Given the description of an element on the screen output the (x, y) to click on. 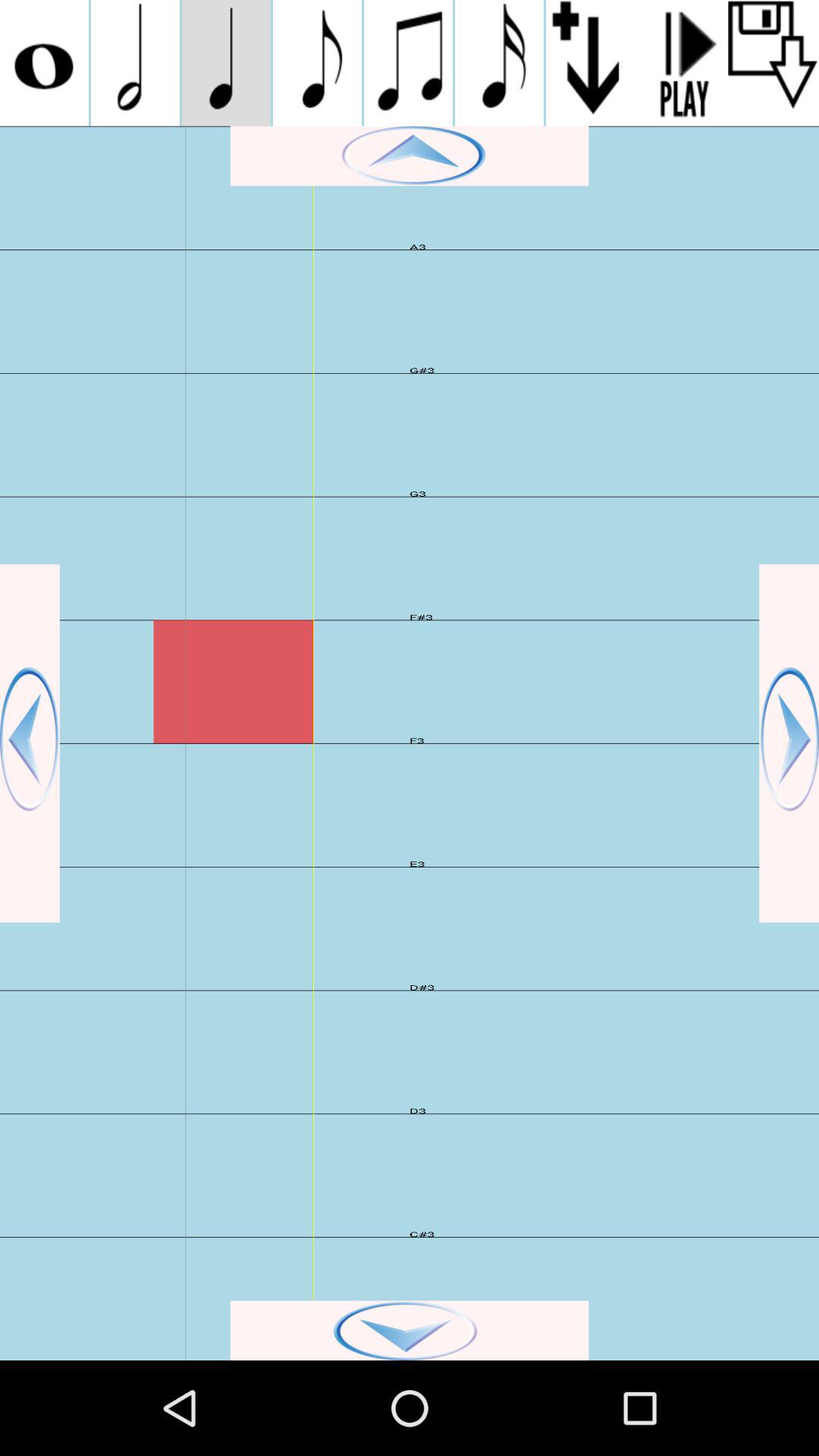
move left (29, 742)
